Given the description of an element on the screen output the (x, y) to click on. 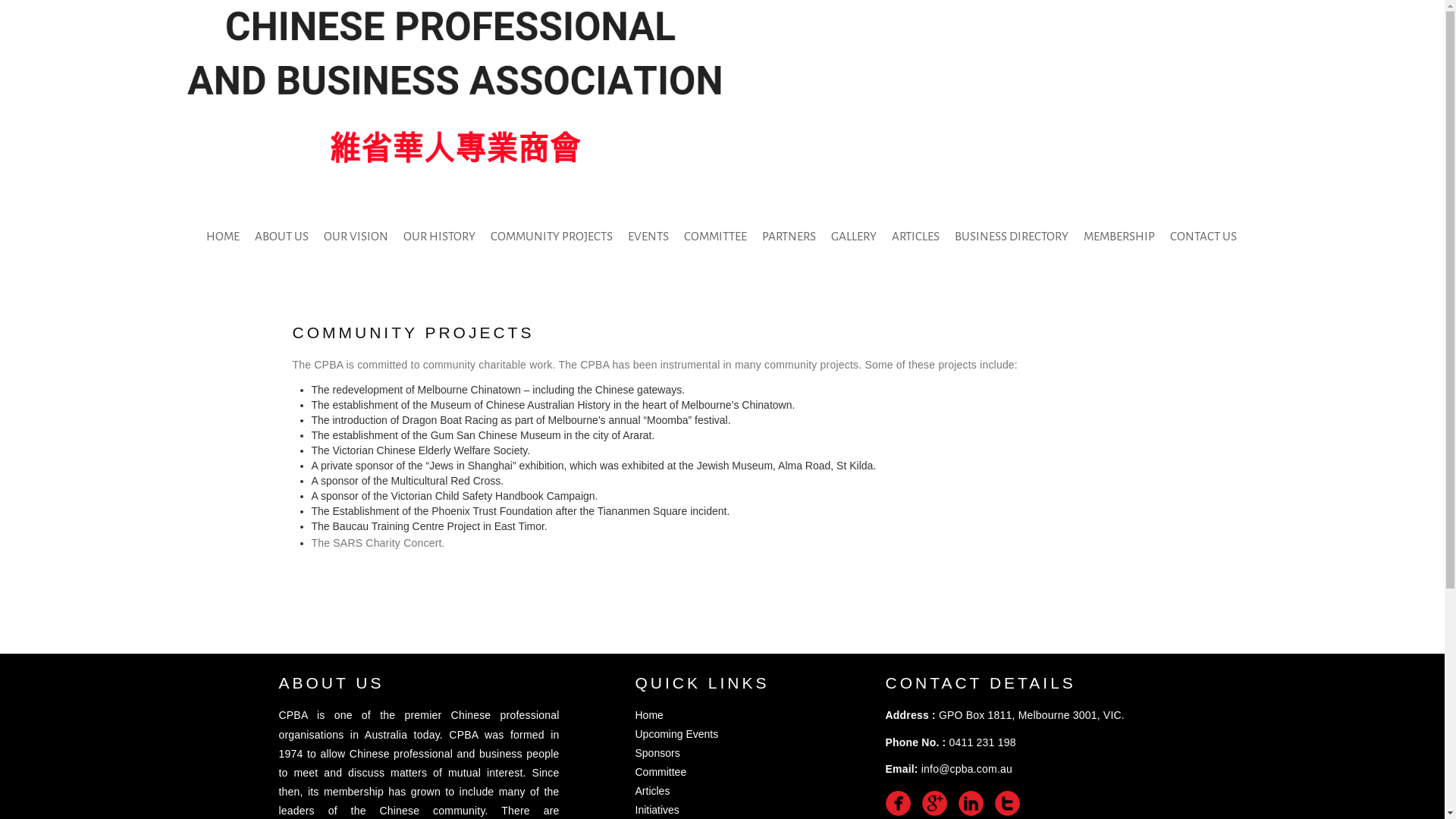
PARTNERS Element type: text (788, 236)
HOME Element type: text (222, 236)
OUR HISTORY Element type: text (439, 236)
ARTICLES Element type: text (915, 236)
Initiatives Element type: text (657, 809)
Sponsors Element type: text (657, 752)
COMMUNITY PROJECTS Element type: text (551, 236)
BUSINESS DIRECTORY Element type: text (1011, 236)
COMMITTEE Element type: text (715, 236)
Home Element type: text (649, 715)
MEMBERSHIP Element type: text (1119, 236)
Committee Element type: text (661, 771)
OUR VISION Element type: text (355, 236)
Articles Element type: text (652, 790)
Upcoming Events Element type: text (676, 734)
CONTACT US Element type: text (1203, 236)
EVENTS Element type: text (648, 236)
ABOUT US Element type: text (281, 236)
GALLERY Element type: text (853, 236)
